Given the description of an element on the screen output the (x, y) to click on. 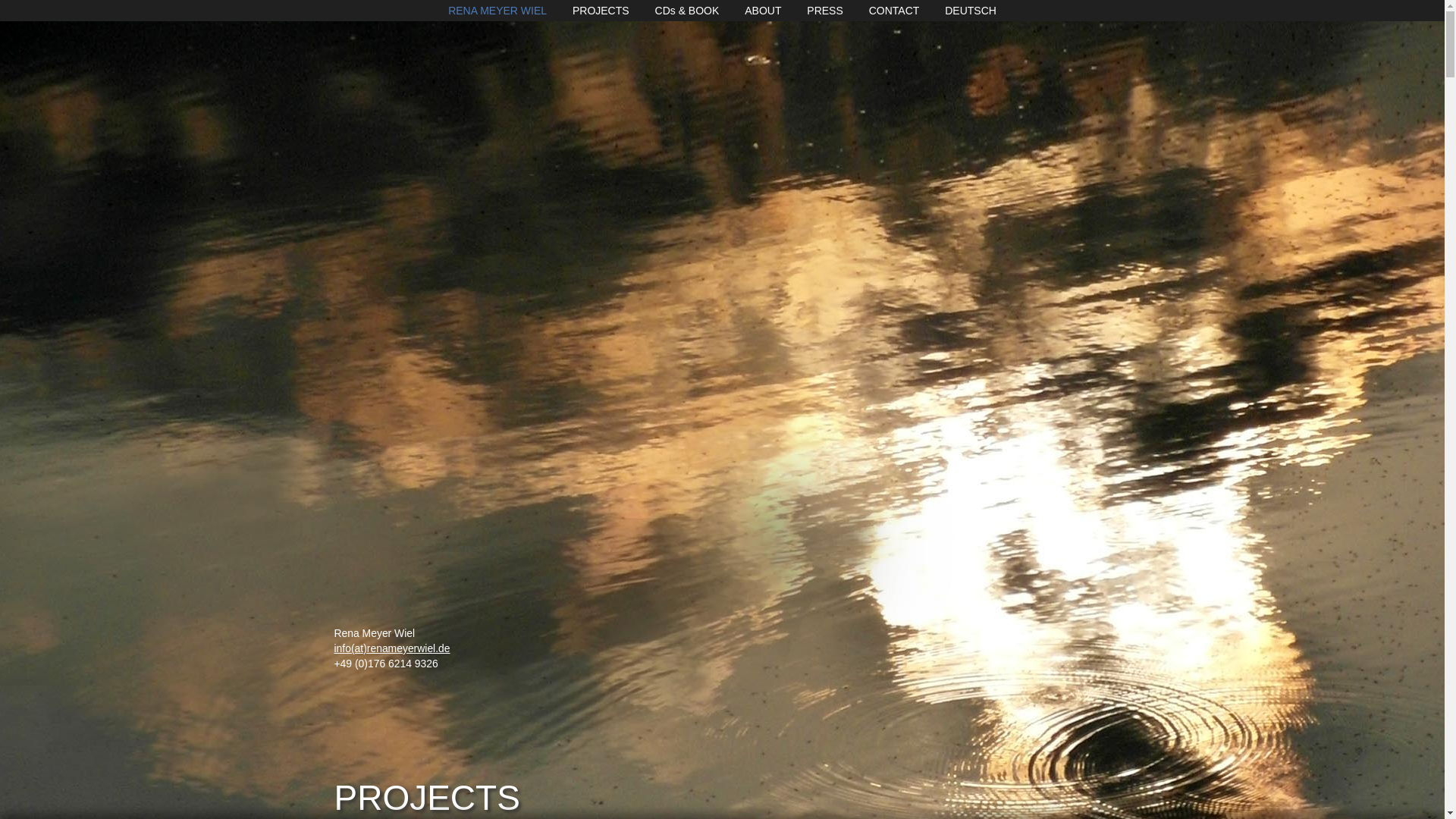
PRESS (824, 10)
CONTACT (894, 10)
ABOUT (762, 10)
DEUTSCH (969, 10)
PROJECTS (600, 10)
RENA MEYER WIEL (497, 10)
